Given the description of an element on the screen output the (x, y) to click on. 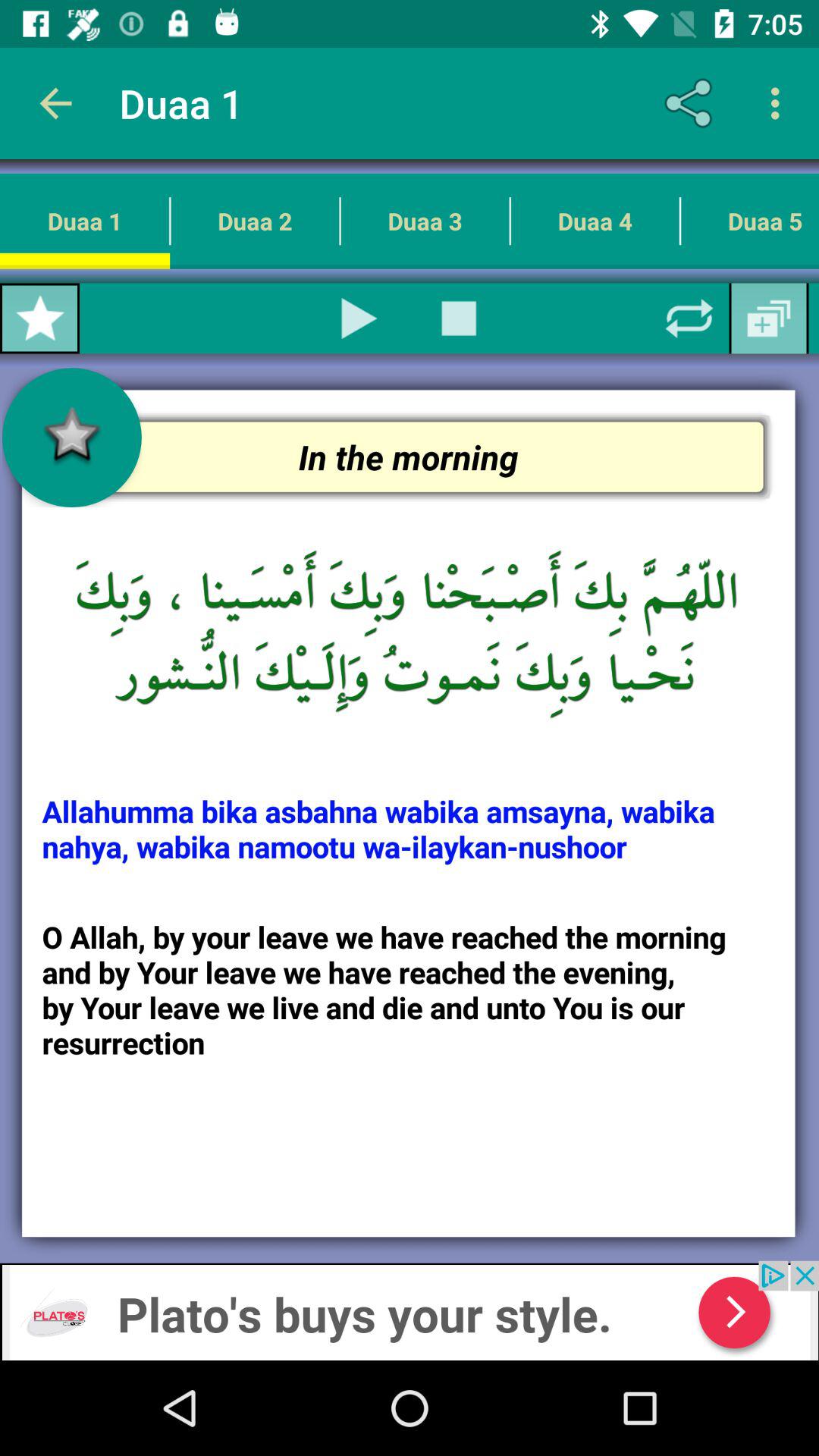
stop playing (458, 318)
